Given the description of an element on the screen output the (x, y) to click on. 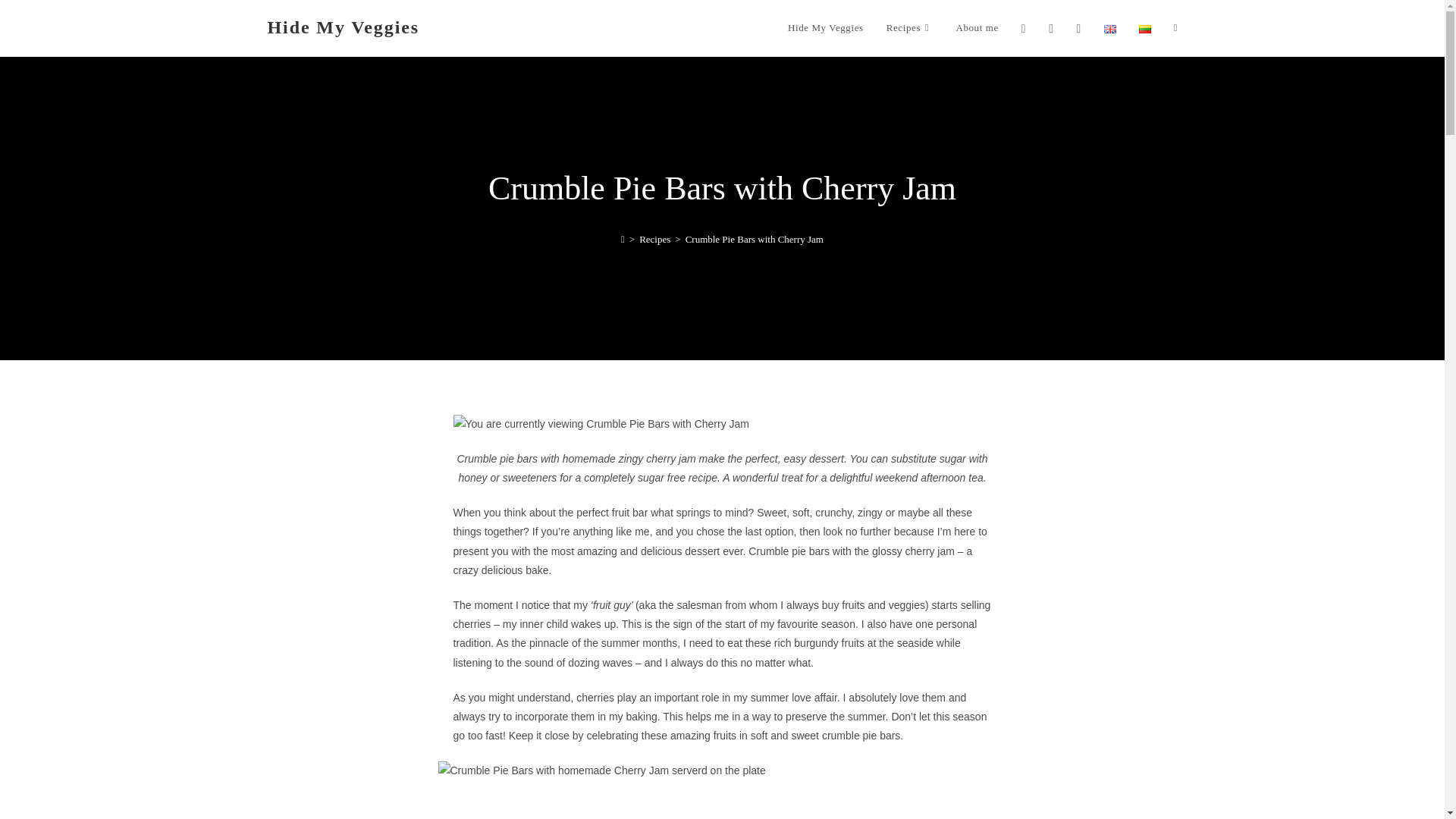
Hide My Veggies (825, 28)
Hide My Veggies (342, 26)
Recipes (909, 28)
About me (976, 28)
